Given the description of an element on the screen output the (x, y) to click on. 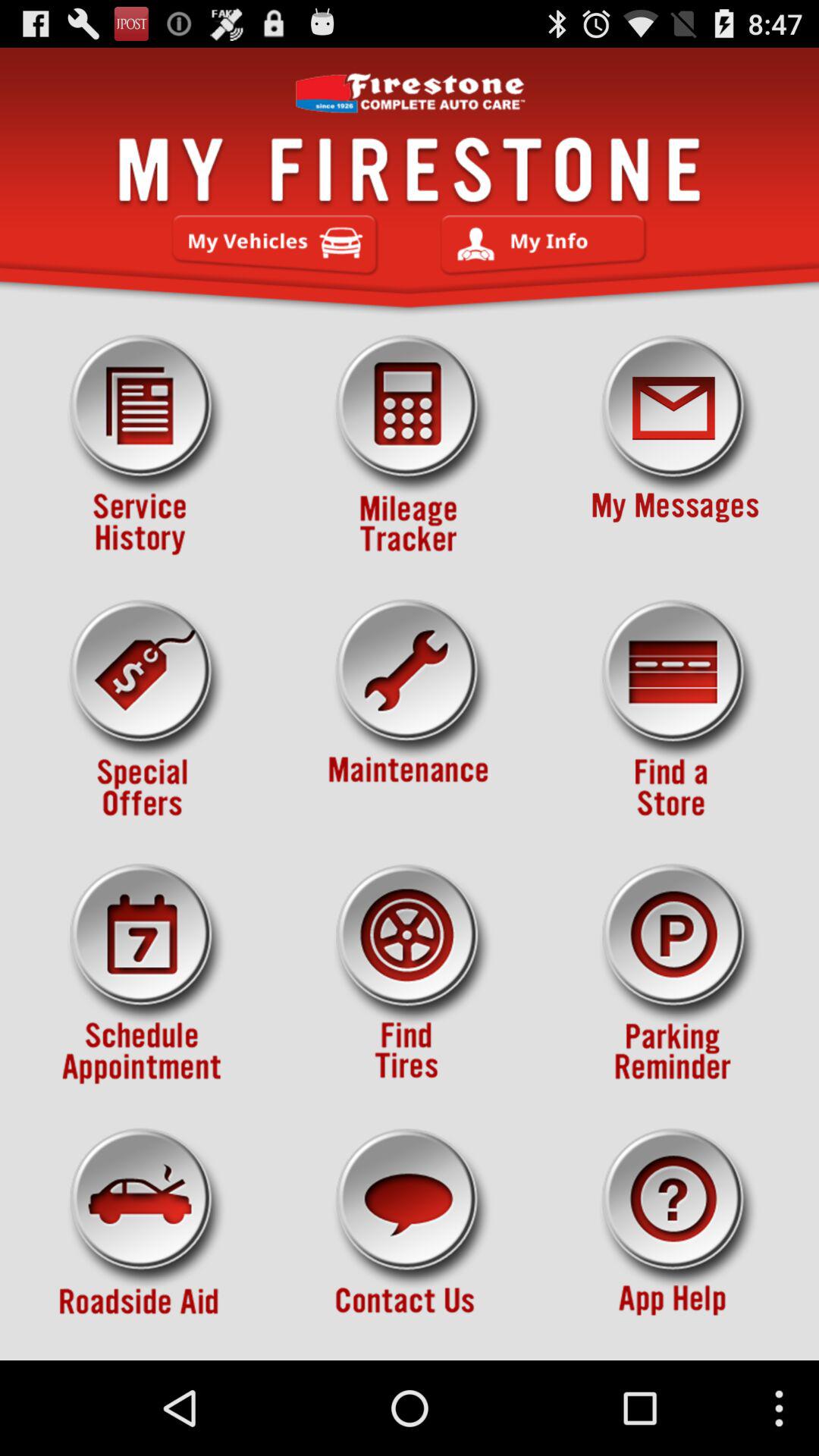
check if there are any discounts for the products (143, 709)
